Given the description of an element on the screen output the (x, y) to click on. 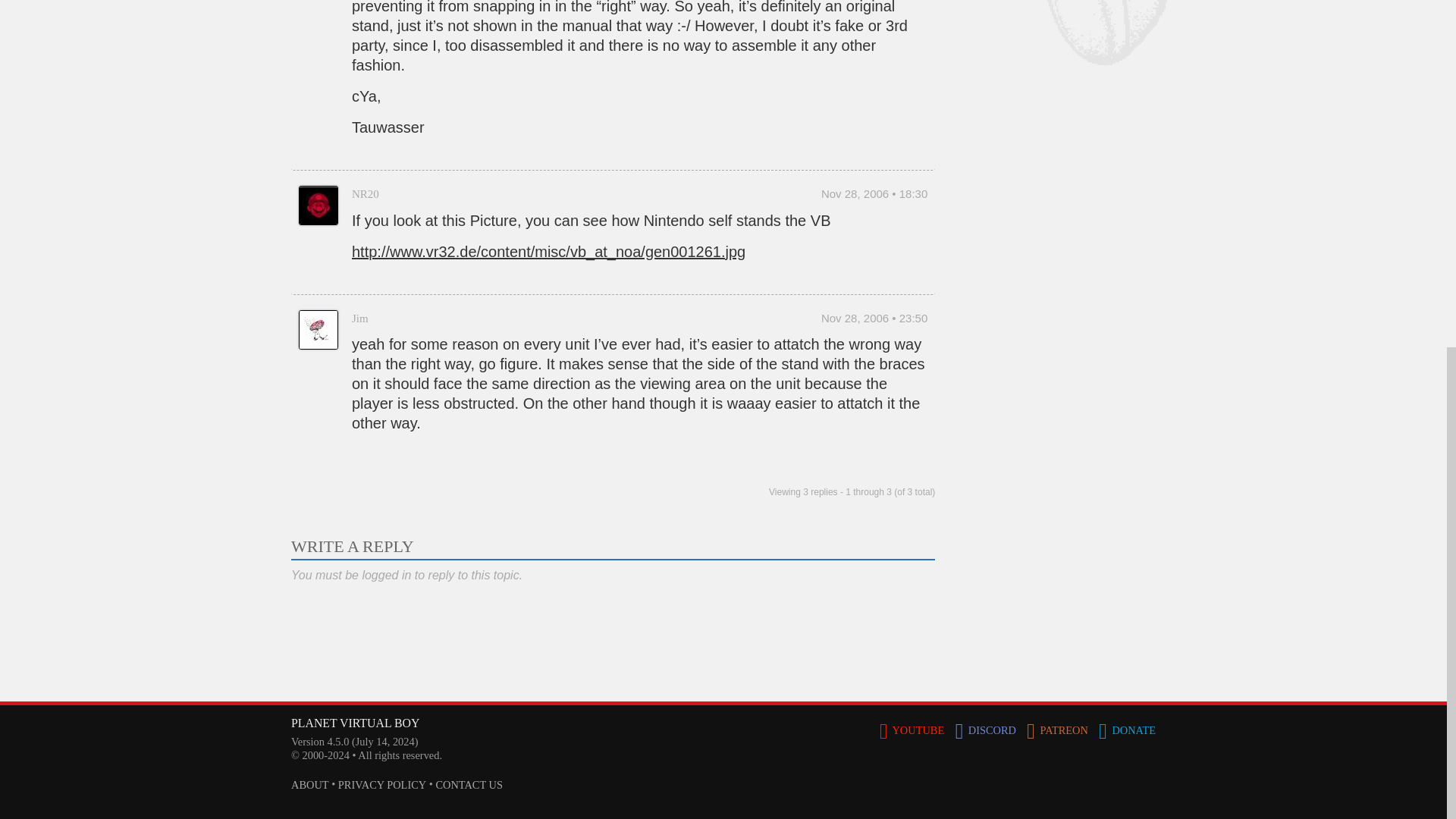
Visit our Youtube channel (913, 729)
Support Team VUEngine on Patreon (1058, 729)
Join us on Discord (987, 729)
Support us (1127, 729)
